Given the description of an element on the screen output the (x, y) to click on. 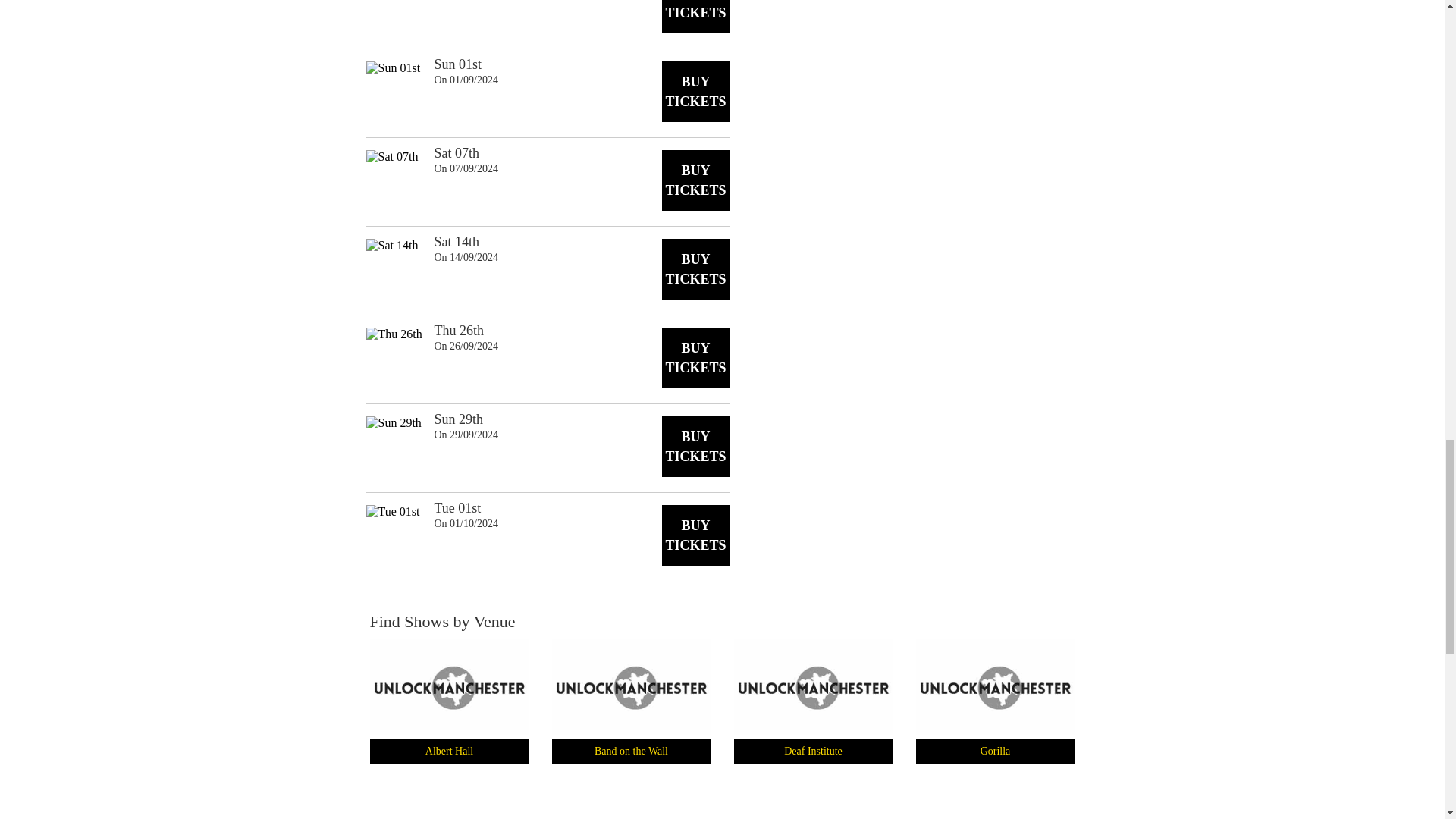
BUY TICKETS (695, 91)
BUY TICKETS (695, 16)
BUY TICKETS (695, 446)
BUY TICKETS (695, 357)
BUY TICKETS (695, 535)
BUY TICKETS (695, 179)
BUY TICKETS (695, 269)
